Given the description of an element on the screen output the (x, y) to click on. 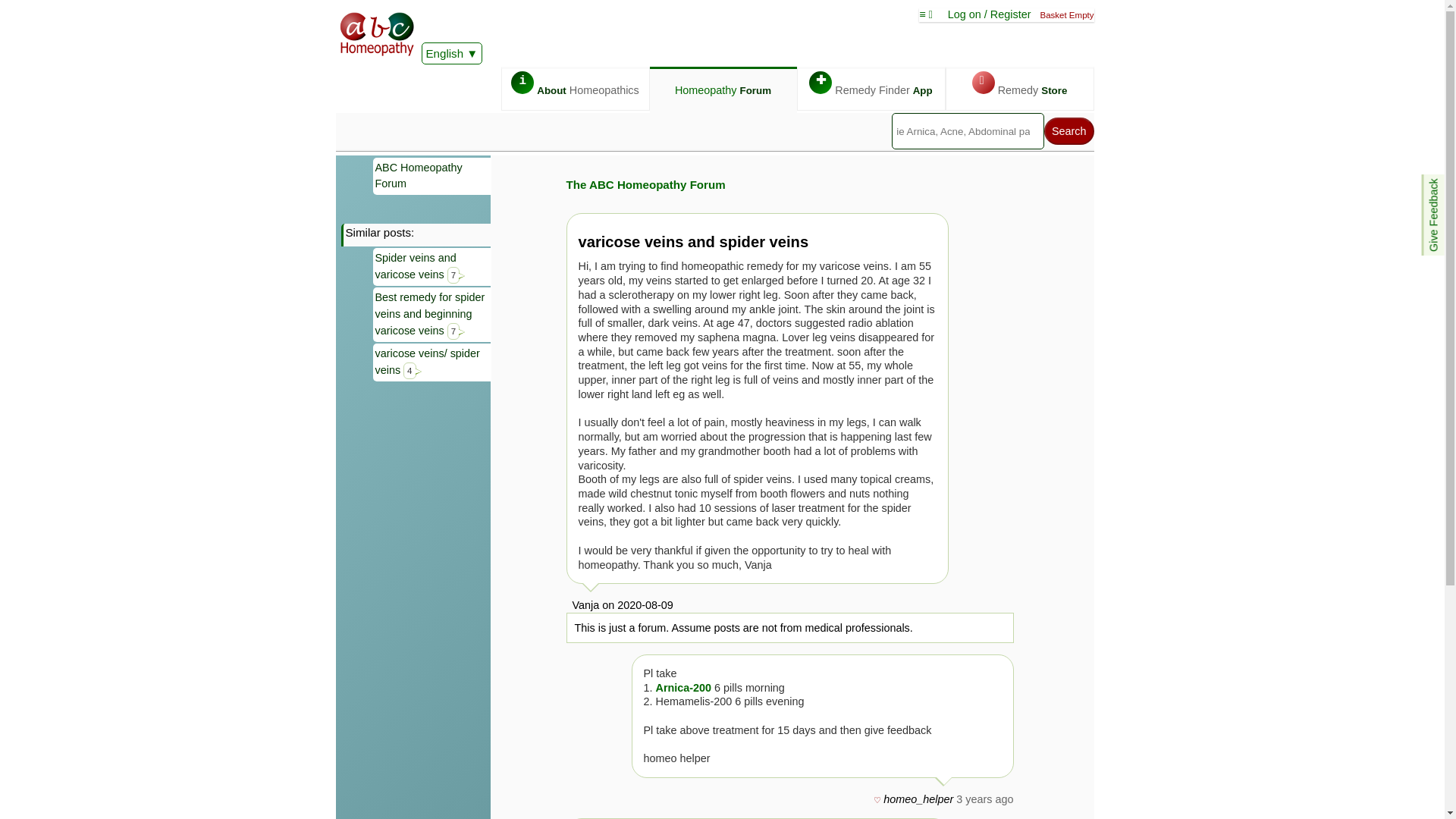
Best remedy for spider veins and beginning varicose veins 7 (432, 314)
Arnica-200 (684, 687)
English (452, 53)
Homeopathy Forum (723, 90)
The ABC Homeopathy Forum (645, 184)
ABC Homeopathy Forum (432, 176)
i About Homeopathics (574, 88)
Spider veins and varicose veins 7 (432, 266)
